Given the description of an element on the screen output the (x, y) to click on. 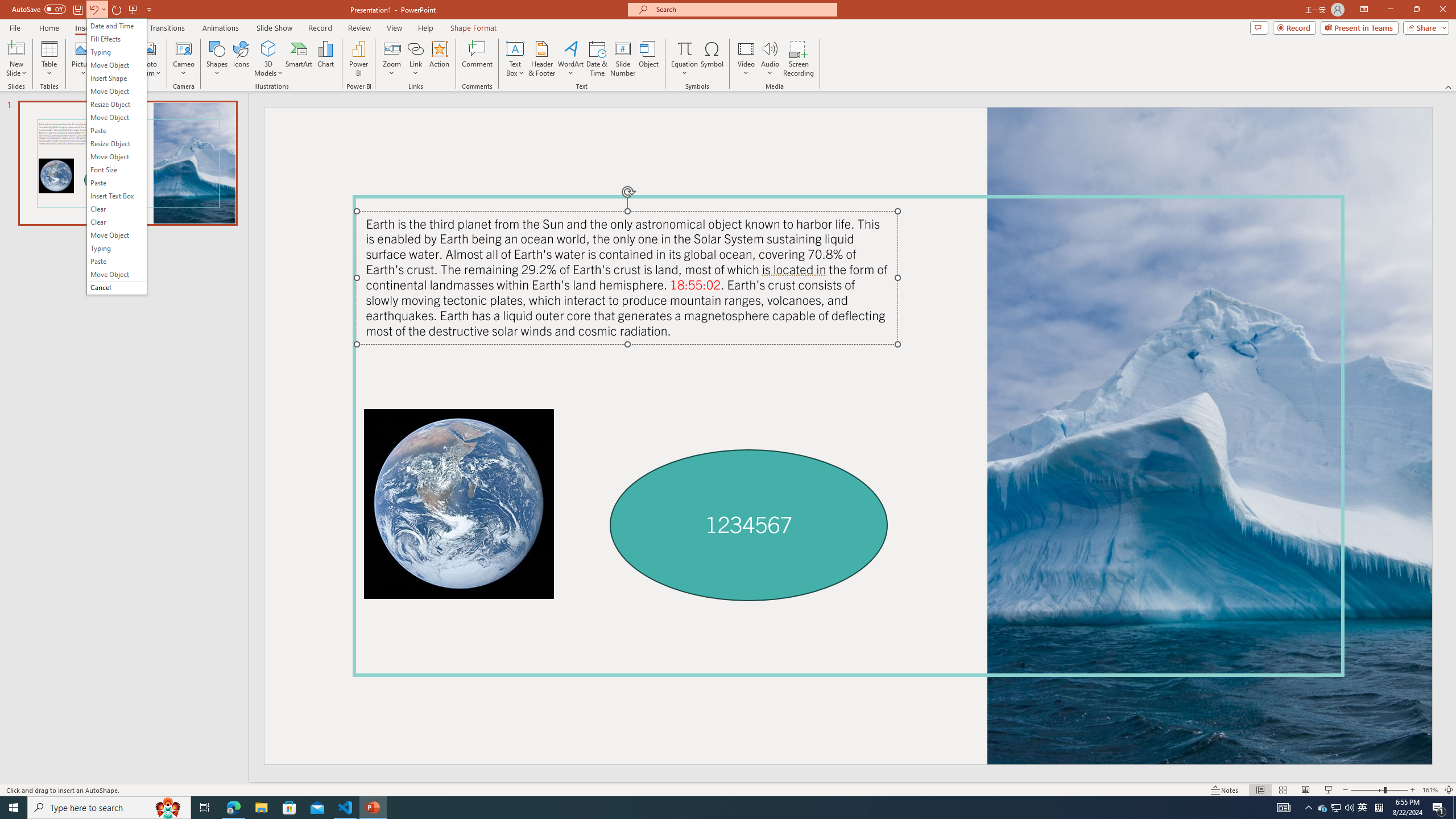
&Undo (116, 156)
Chart... (325, 58)
AutomationID: 4105 (1283, 807)
Tray Input Indicator - Chinese (Simplified, China) (1378, 807)
